Given the description of an element on the screen output the (x, y) to click on. 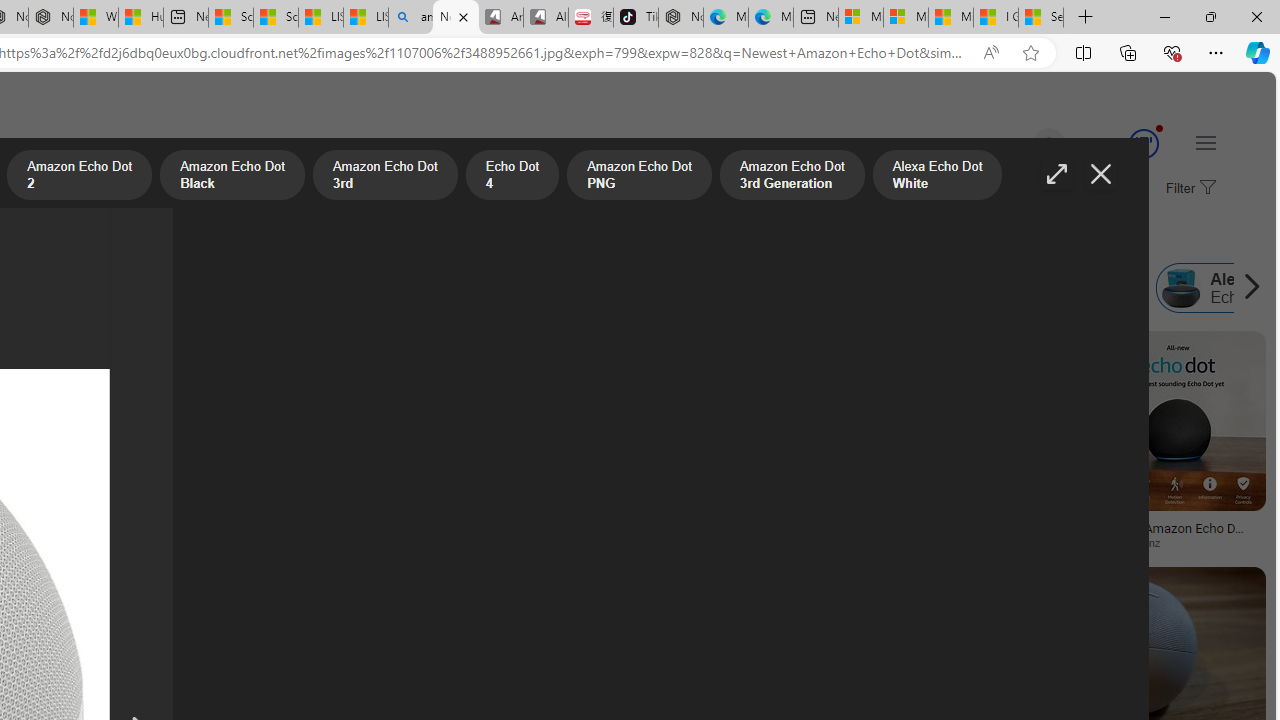
Close image (1100, 173)
Amazon Echo Smart Speaker (986, 287)
Amazon Echo Box (866, 287)
I Gained 20 Pounds of Muscle in 30 Days! | Watch (995, 17)
Amazon Echo Dot 2 (79, 177)
Echo Dot 4 (36, 287)
Amazon Echo Dot 3rd (385, 177)
Class: medal-svg-animation (1143, 143)
techAU (949, 542)
Amazon Echo Smart Speaker (1055, 287)
Eugene (1019, 143)
